Given the description of an element on the screen output the (x, y) to click on. 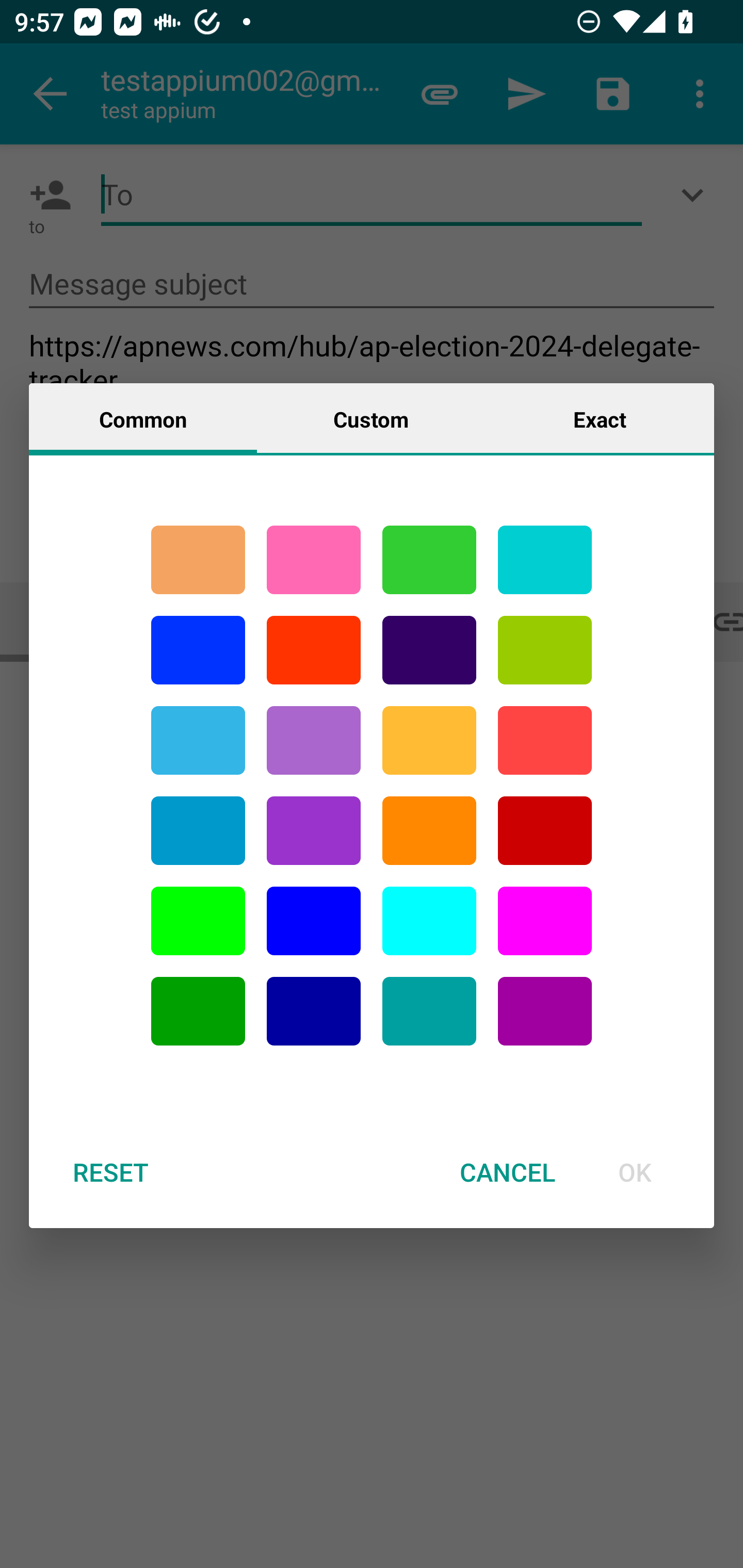
Common (142, 418)
Custom (371, 418)
Exact (599, 418)
Peach (197, 559)
Pink (313, 559)
Green (429, 559)
Cyan (544, 559)
Blue (197, 649)
Red (313, 649)
Dark purple (429, 649)
Light green (544, 649)
Cyan (197, 739)
Purple (313, 739)
Light orange (429, 739)
Light red (544, 739)
Dark cyan (197, 830)
Purple (313, 830)
Orange (429, 830)
Dark red (544, 830)
Light green (197, 920)
Blue (313, 920)
Light cyan (429, 920)
Light purple (544, 920)
Dark green (197, 1010)
Dark blue (313, 1010)
Cyan (429, 1010)
Purple (544, 1010)
RESET (110, 1171)
CANCEL (507, 1171)
OK (634, 1171)
